Given the description of an element on the screen output the (x, y) to click on. 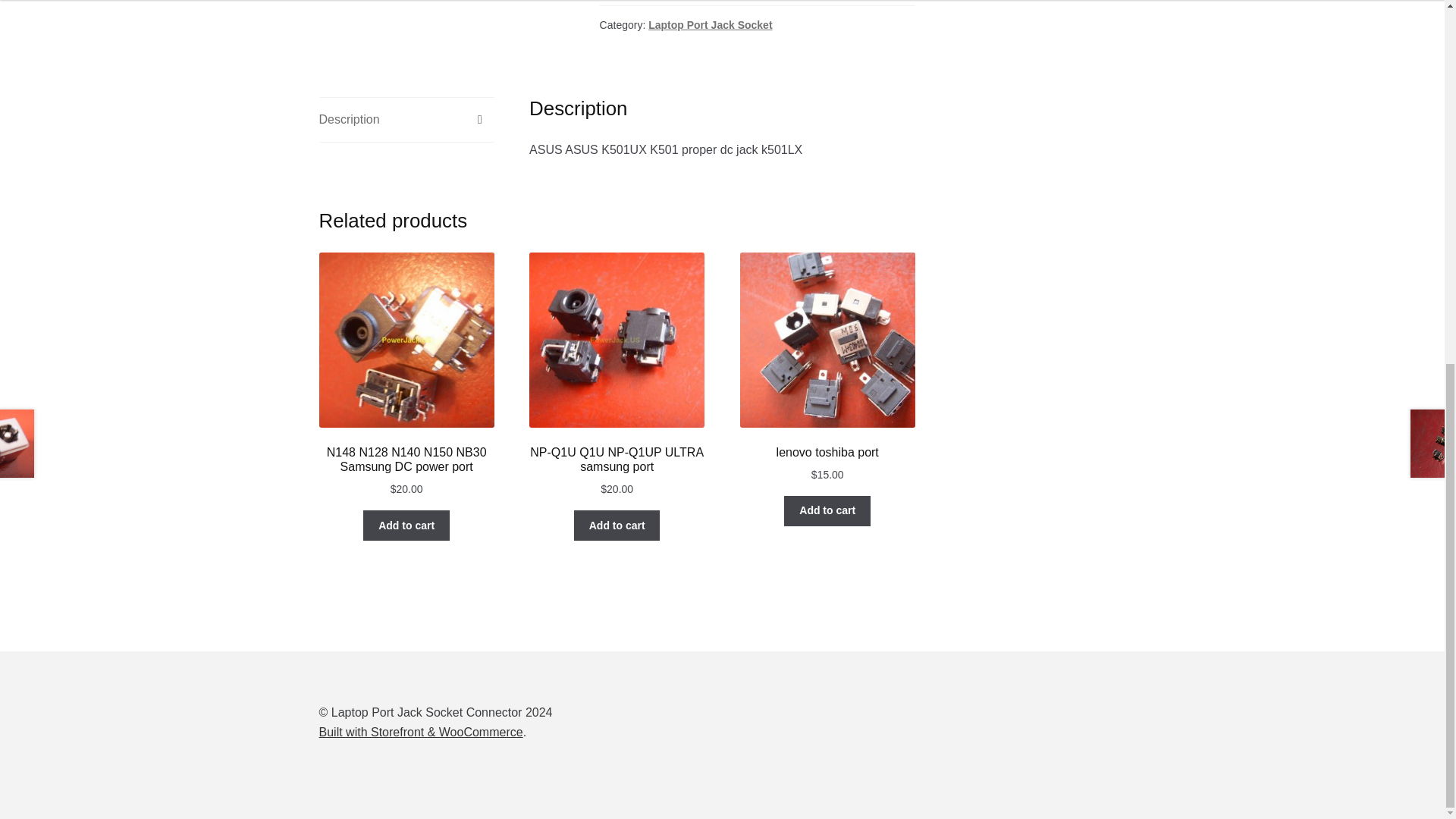
Add to cart (617, 525)
Add to cart (827, 511)
Description (406, 119)
WooCommerce - The Best eCommerce Platform for WordPress (420, 731)
Laptop Port Jack Socket (709, 24)
Add to cart (405, 525)
